Given the description of an element on the screen output the (x, y) to click on. 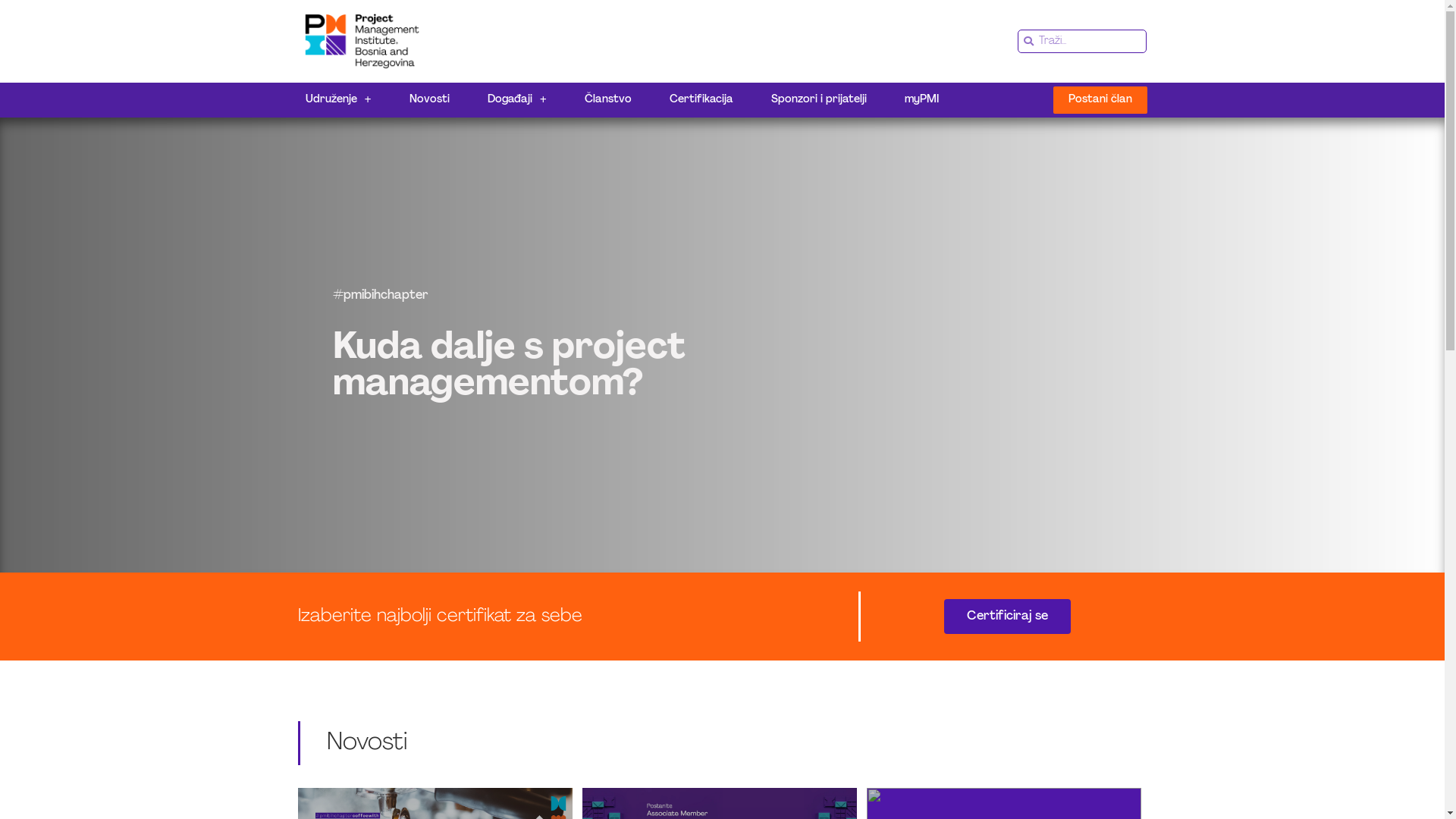
Search Element type: hover (1089, 41)
Certificiraj se Element type: text (1007, 616)
Sponzori i prijatelji Element type: text (818, 99)
Novosti Element type: text (429, 99)
myPMI Element type: text (921, 99)
Certifikacija Element type: text (701, 99)
